Given the description of an element on the screen output the (x, y) to click on. 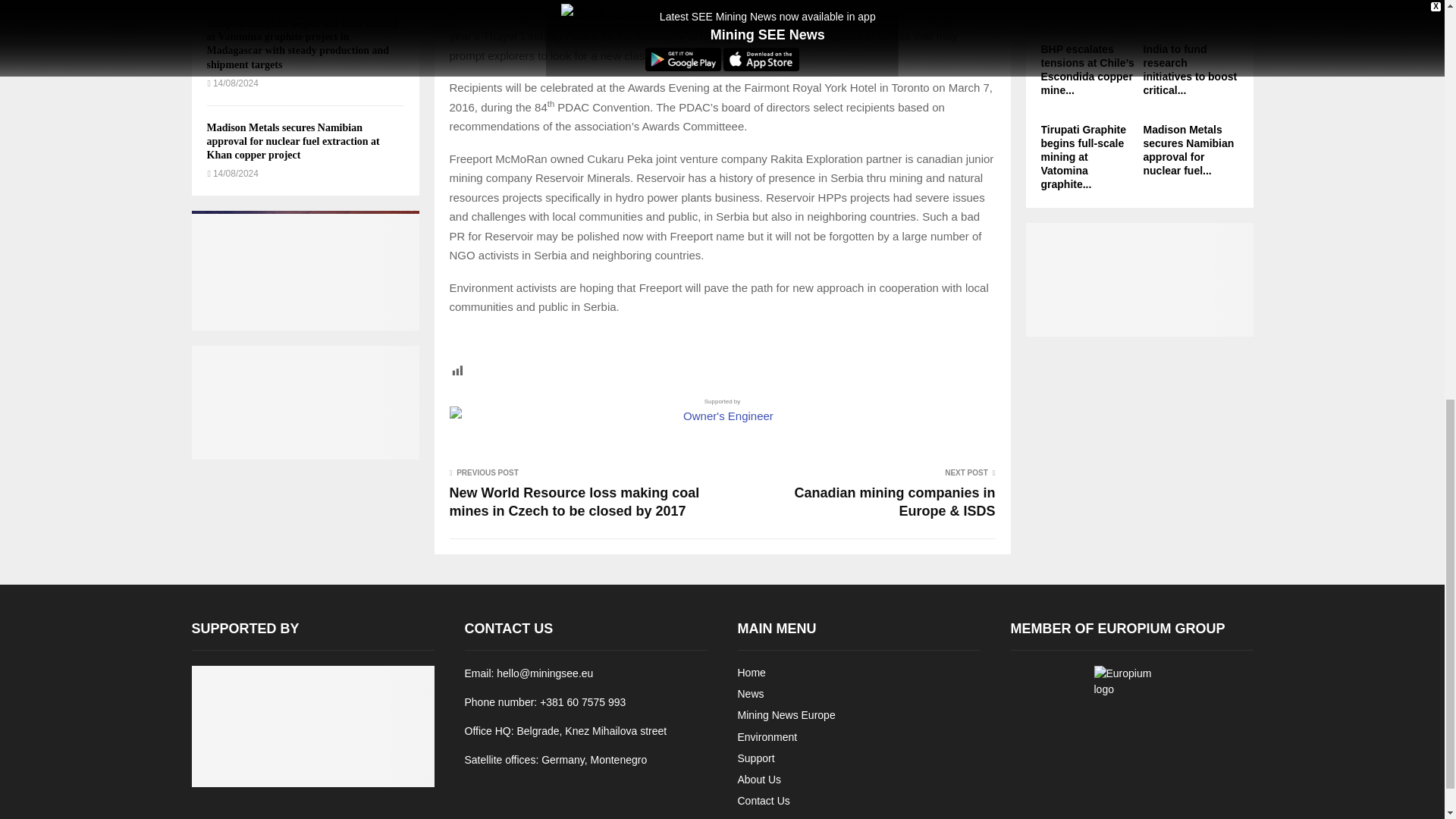
Supported by (721, 410)
